Given the description of an element on the screen output the (x, y) to click on. 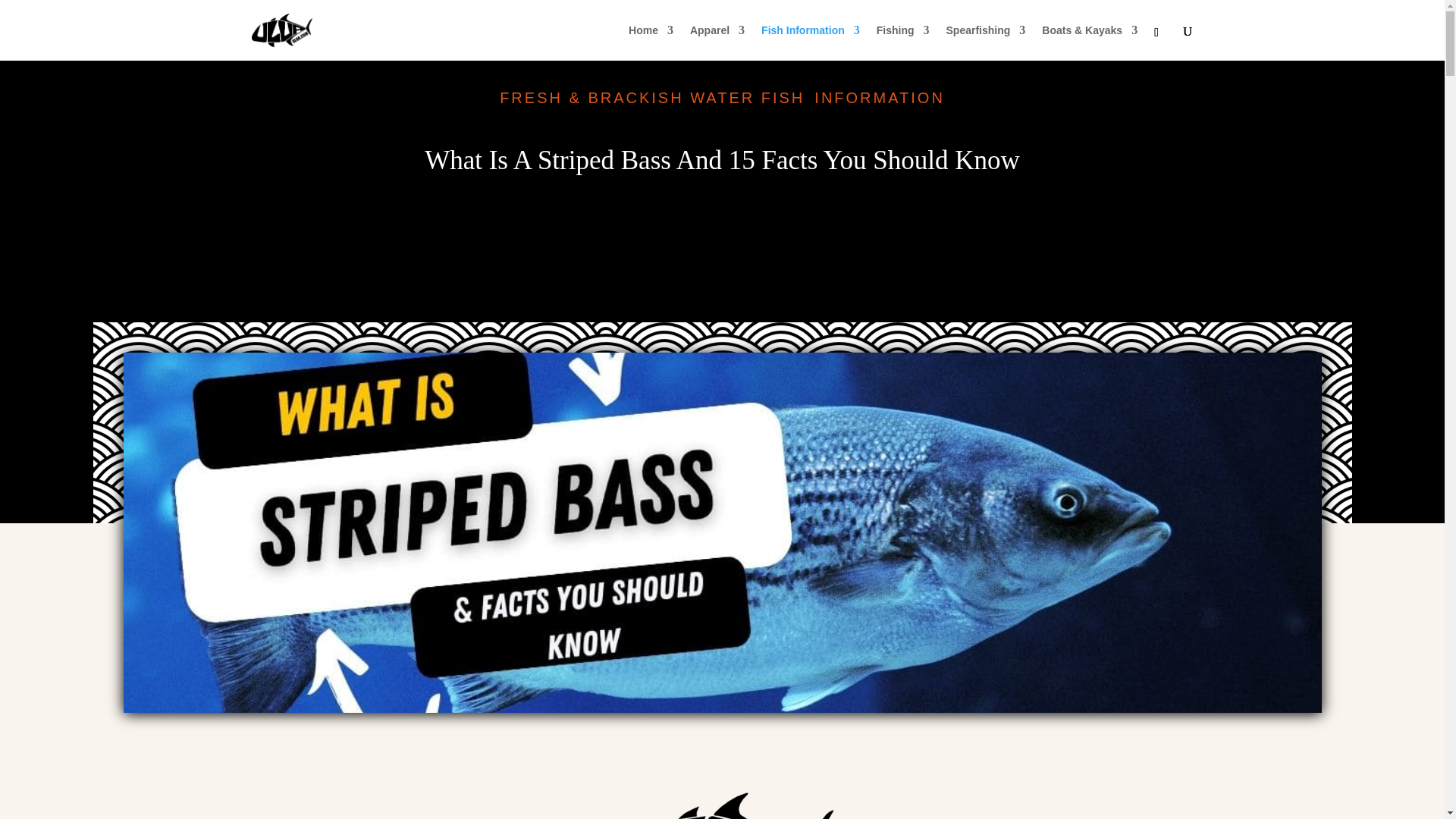
cropped-ulua-512x512-1-1.png (721, 778)
Home (650, 42)
Fish Information (810, 42)
Apparel (717, 42)
